Given the description of an element on the screen output the (x, y) to click on. 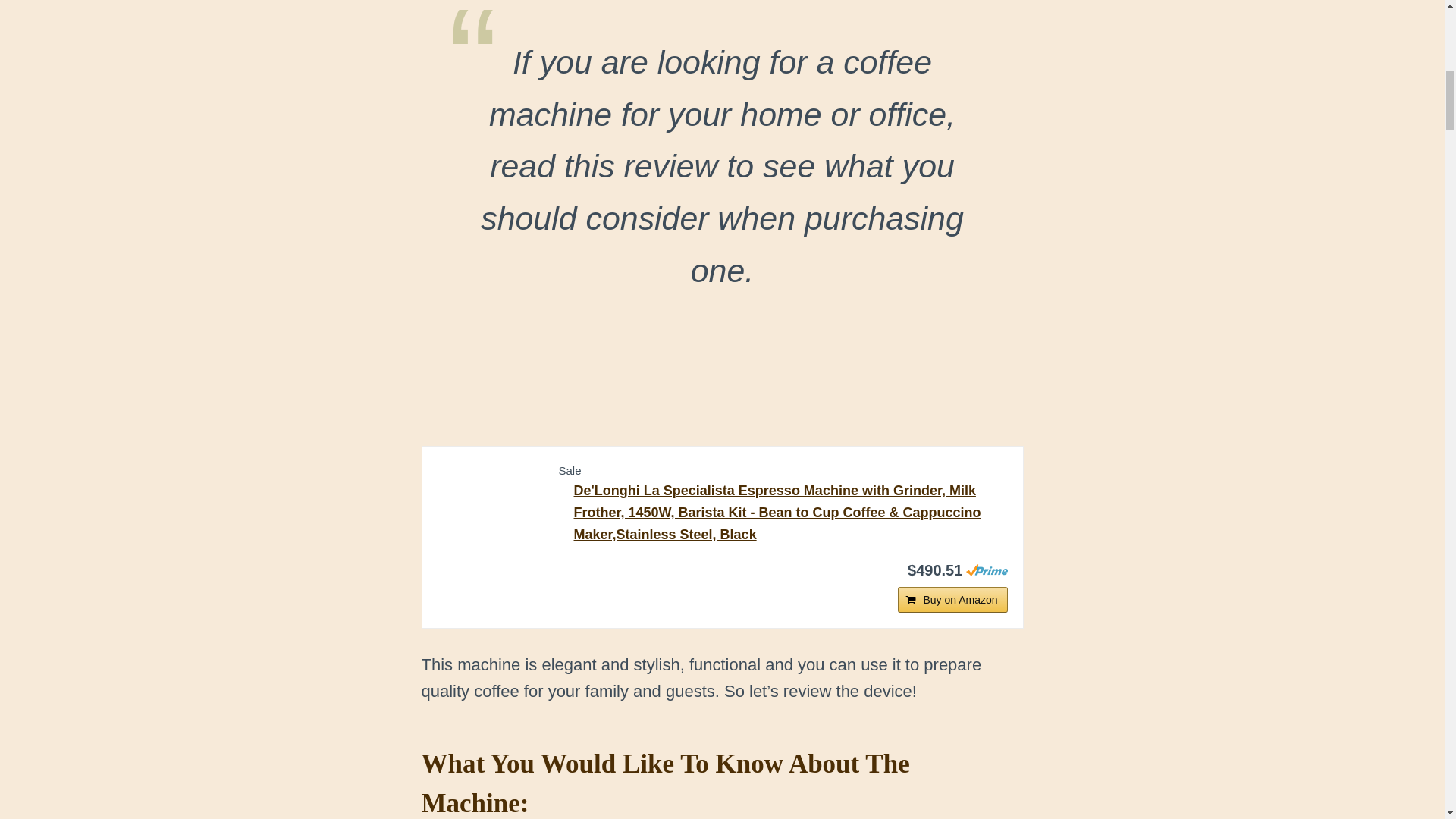
Buy on Amazon (952, 599)
Amazon Prime (986, 570)
Buy on Amazon (952, 599)
